Given the description of an element on the screen output the (x, y) to click on. 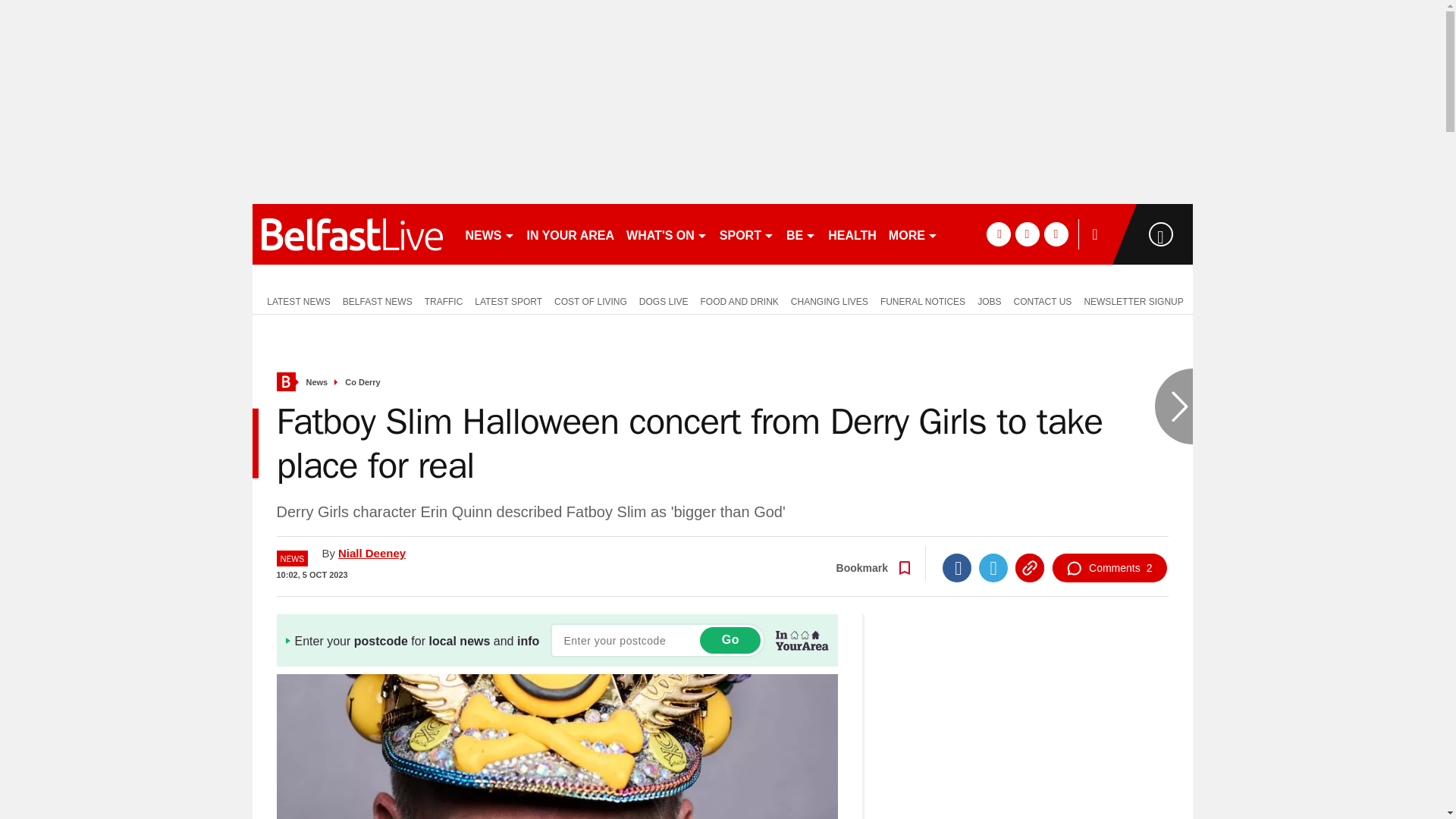
Twitter (992, 567)
SPORT (746, 233)
Comments (1108, 567)
instagram (1055, 233)
belfastlive (351, 233)
NEWS (490, 233)
WHAT'S ON (666, 233)
Facebook (956, 567)
Go (730, 640)
IN YOUR AREA (569, 233)
